Given the description of an element on the screen output the (x, y) to click on. 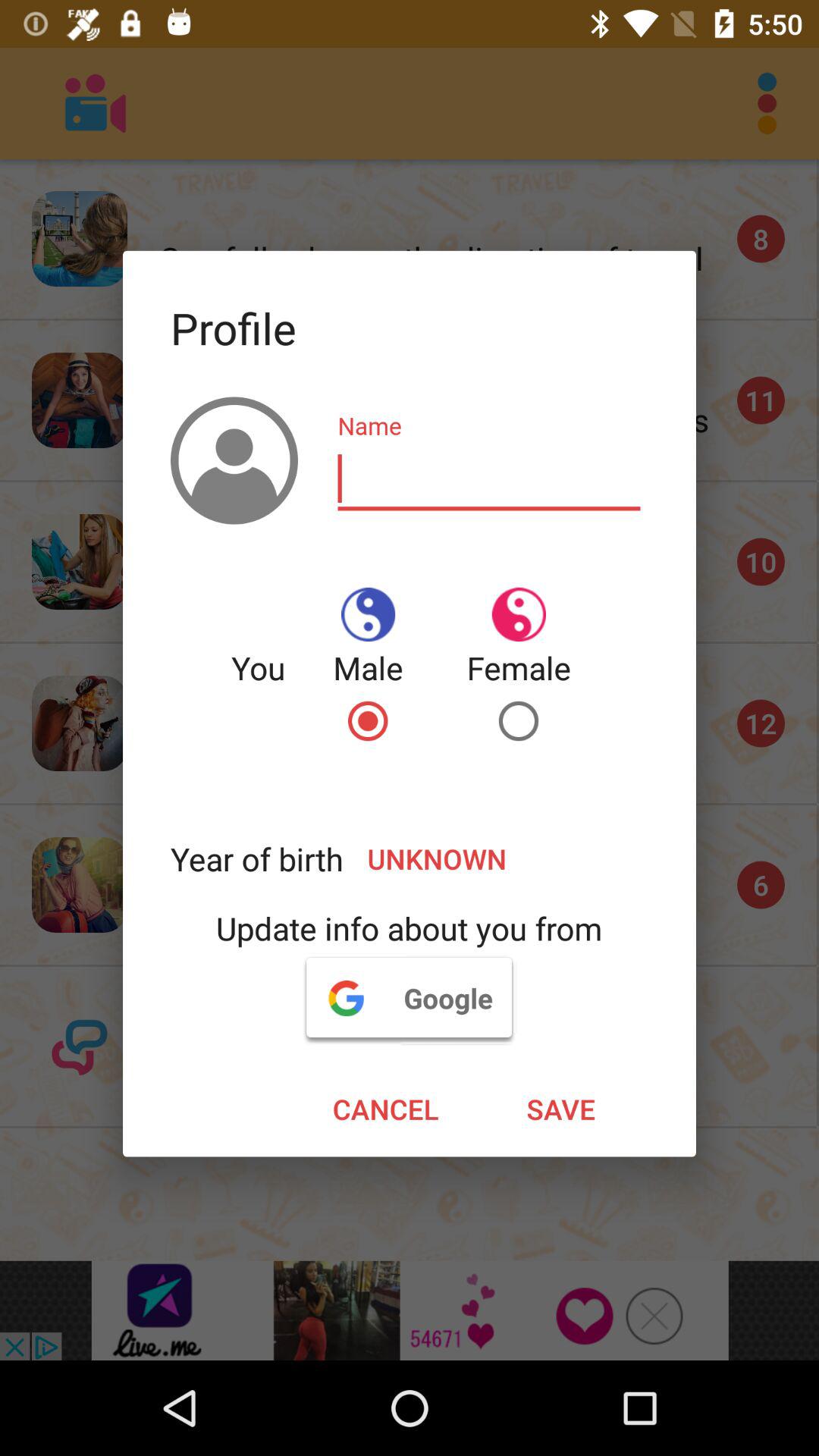
turn on the icon to the right of cancel item (560, 1108)
